Given the description of an element on the screen output the (x, y) to click on. 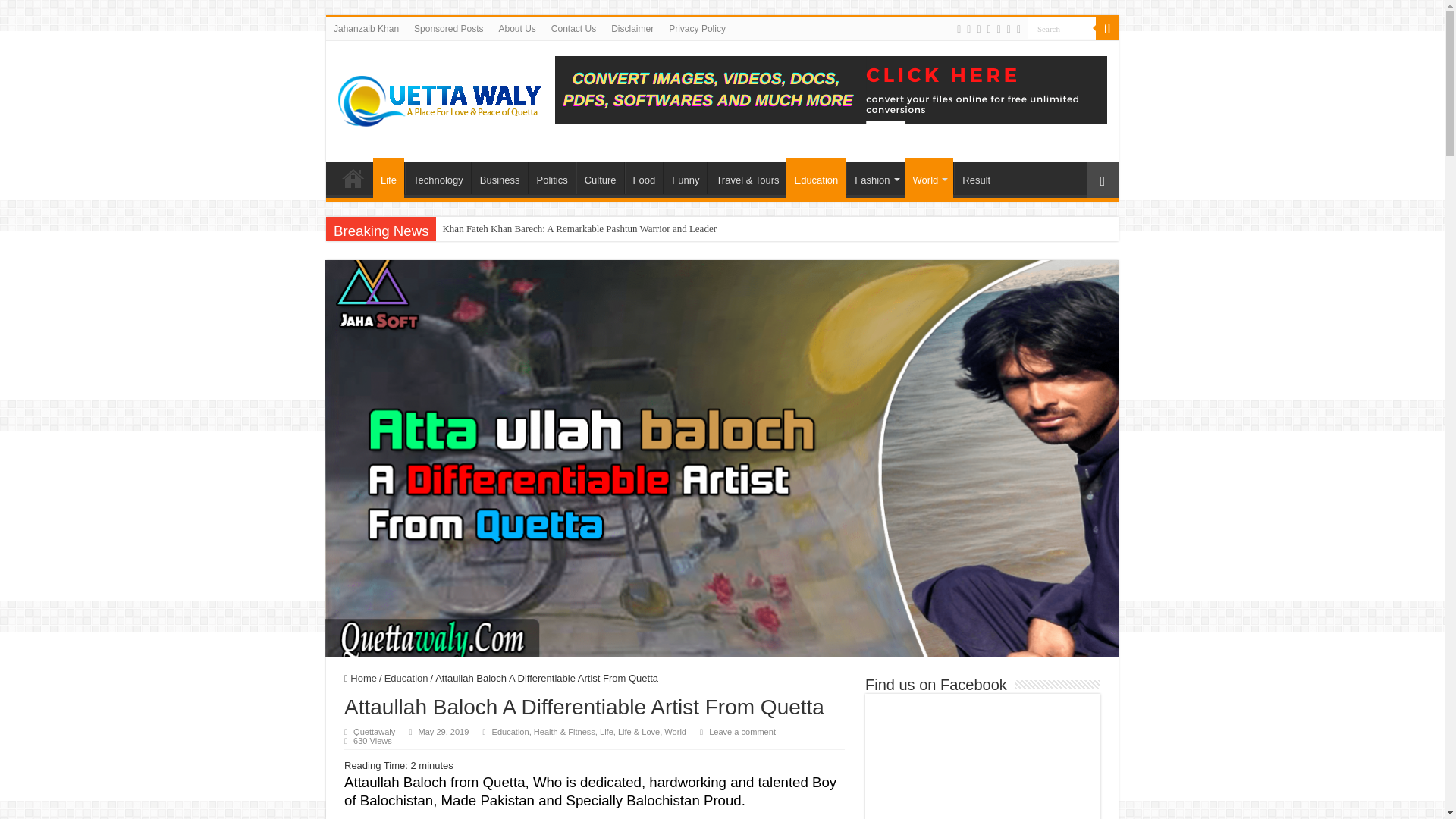
About Us (516, 28)
Privacy Policy (697, 28)
Jahanzaib Khan (366, 28)
Search (1061, 28)
Disclaimer (632, 28)
Contact Us (573, 28)
Search (1107, 28)
Sponsored Posts (448, 28)
Search (1061, 28)
Search (1061, 28)
